Given the description of an element on the screen output the (x, y) to click on. 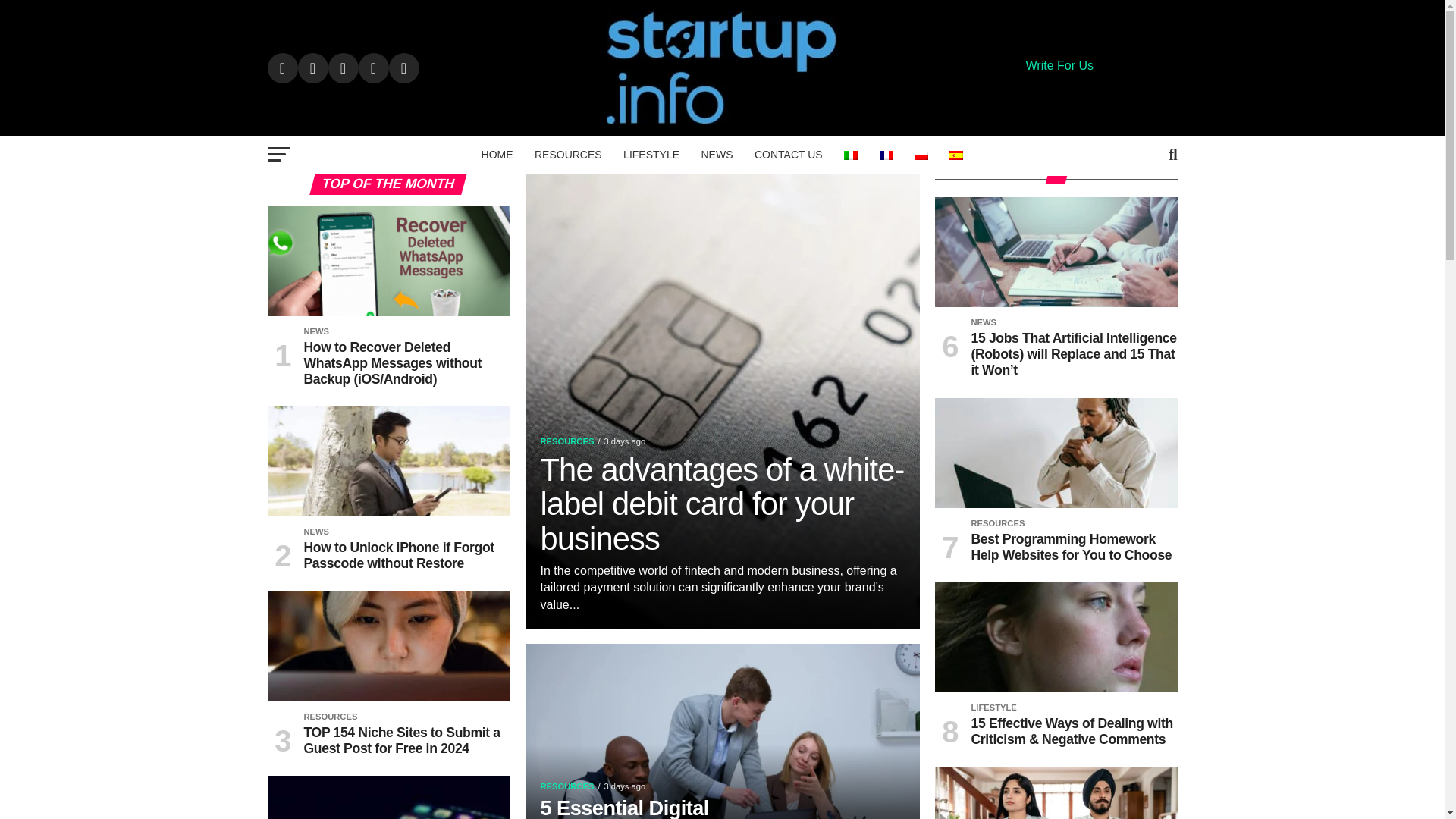
Write For Us (1059, 65)
NEWS (716, 154)
HOME (496, 154)
RESOURCES (568, 154)
LIFESTYLE (651, 154)
